Given the description of an element on the screen output the (x, y) to click on. 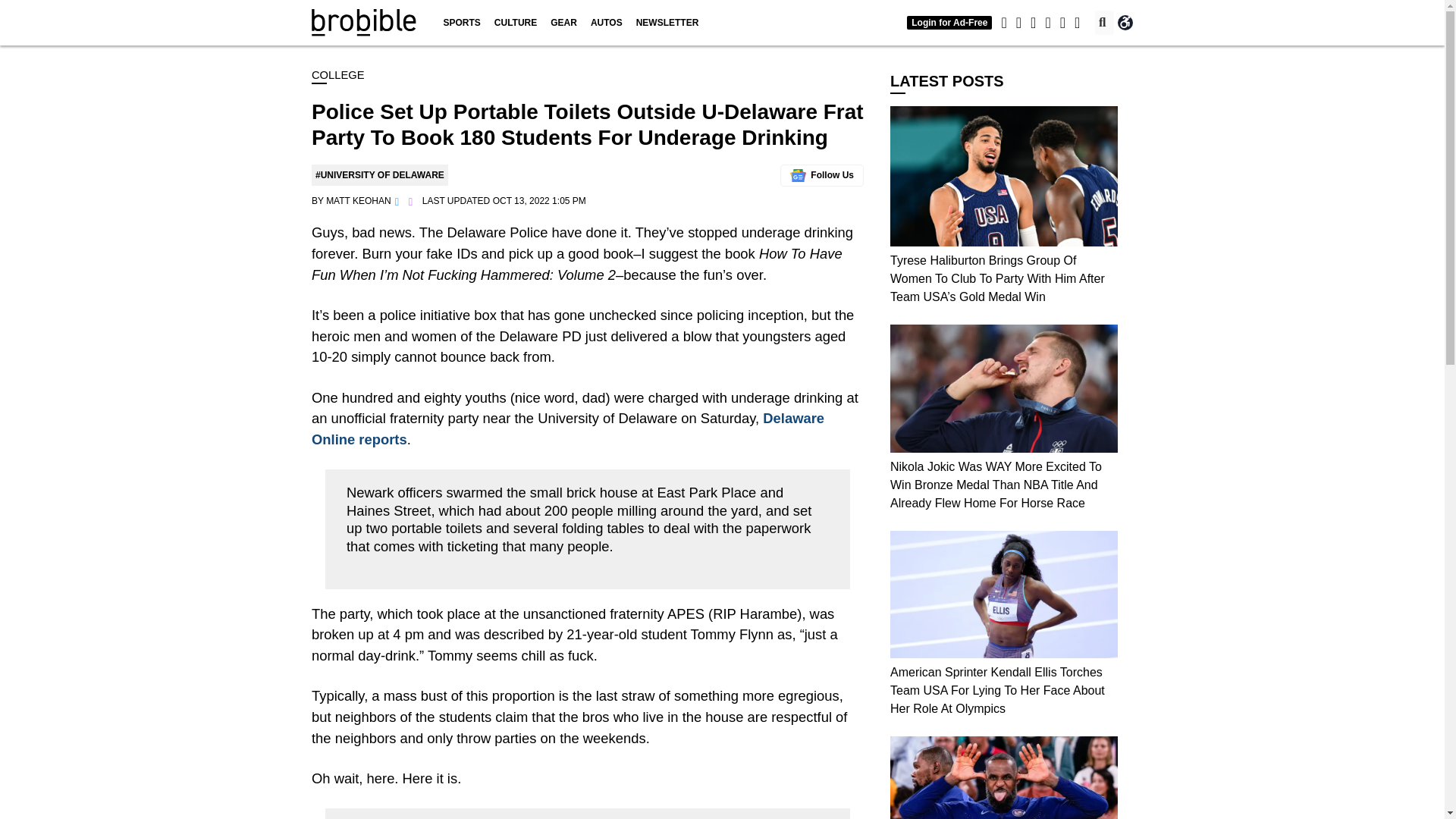
Accessibility (1125, 22)
Posts by Matt Keohan (358, 200)
Follow us on Google News (821, 175)
CULTURE (515, 22)
Login for Ad-Free (949, 22)
SPORTS (460, 22)
